Given the description of an element on the screen output the (x, y) to click on. 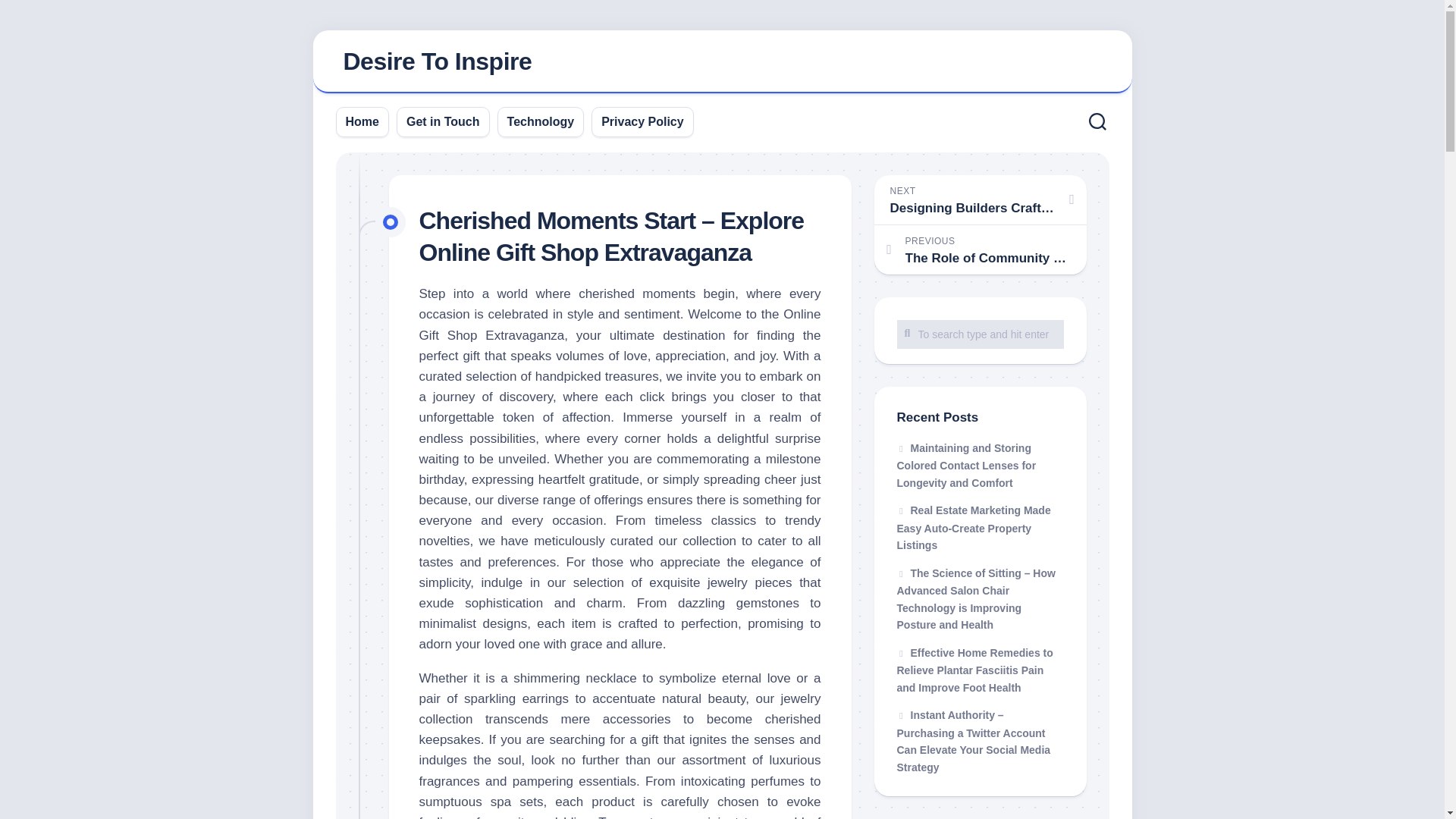
Home (362, 121)
Technology (540, 121)
Privacy Policy (642, 121)
Desire To Inspire (436, 61)
To search type and hit enter (979, 334)
To search type and hit enter (979, 334)
Desire To Inspire (722, 62)
Get in Touch (443, 121)
